Given the description of an element on the screen output the (x, y) to click on. 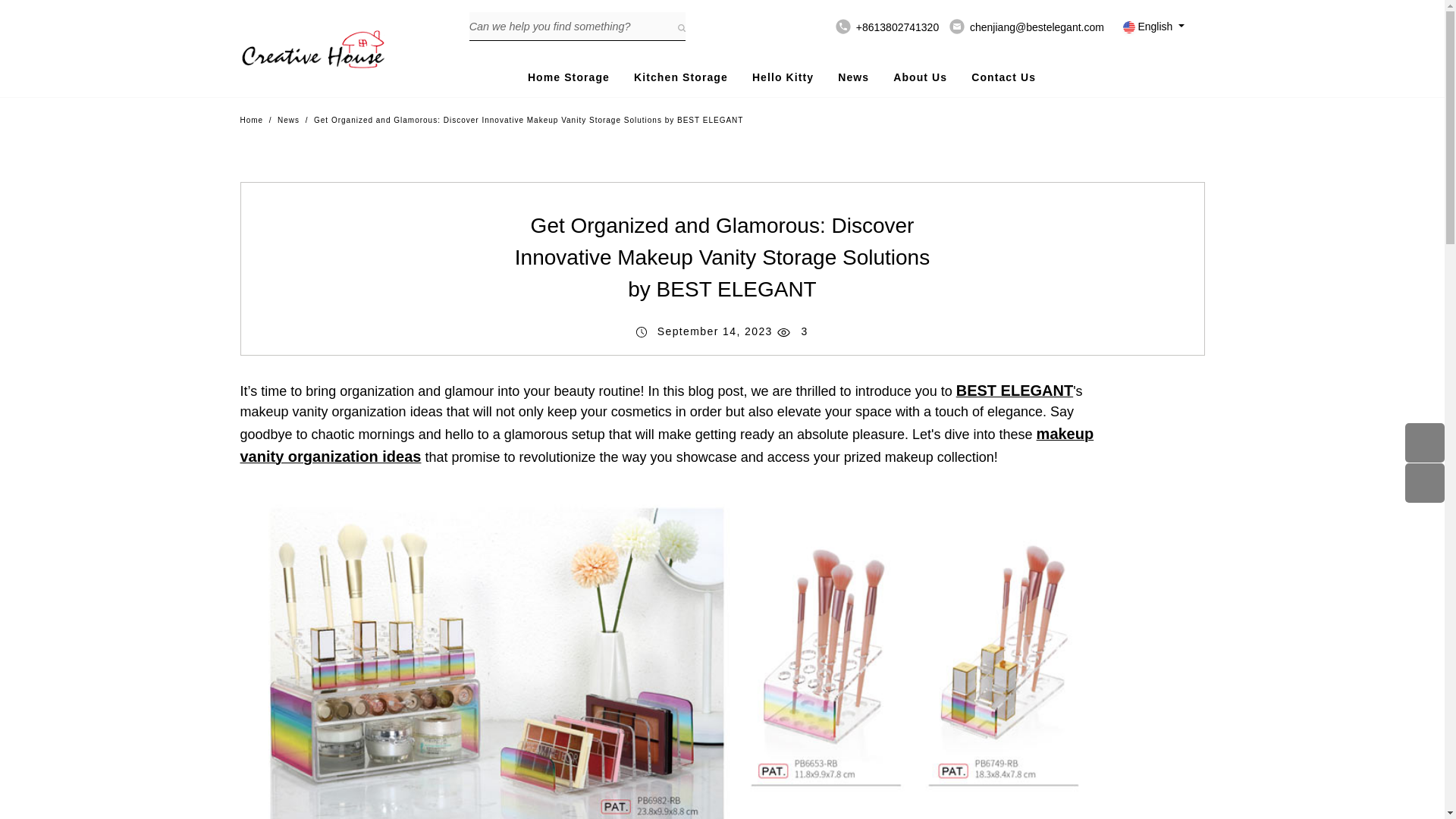
About Us (920, 71)
Best Elegant International Limited (312, 49)
Kitchen Storage (680, 71)
search (681, 26)
Home Storage (568, 71)
Hello Kitty (782, 71)
News (288, 120)
English (1153, 25)
